Given the description of an element on the screen output the (x, y) to click on. 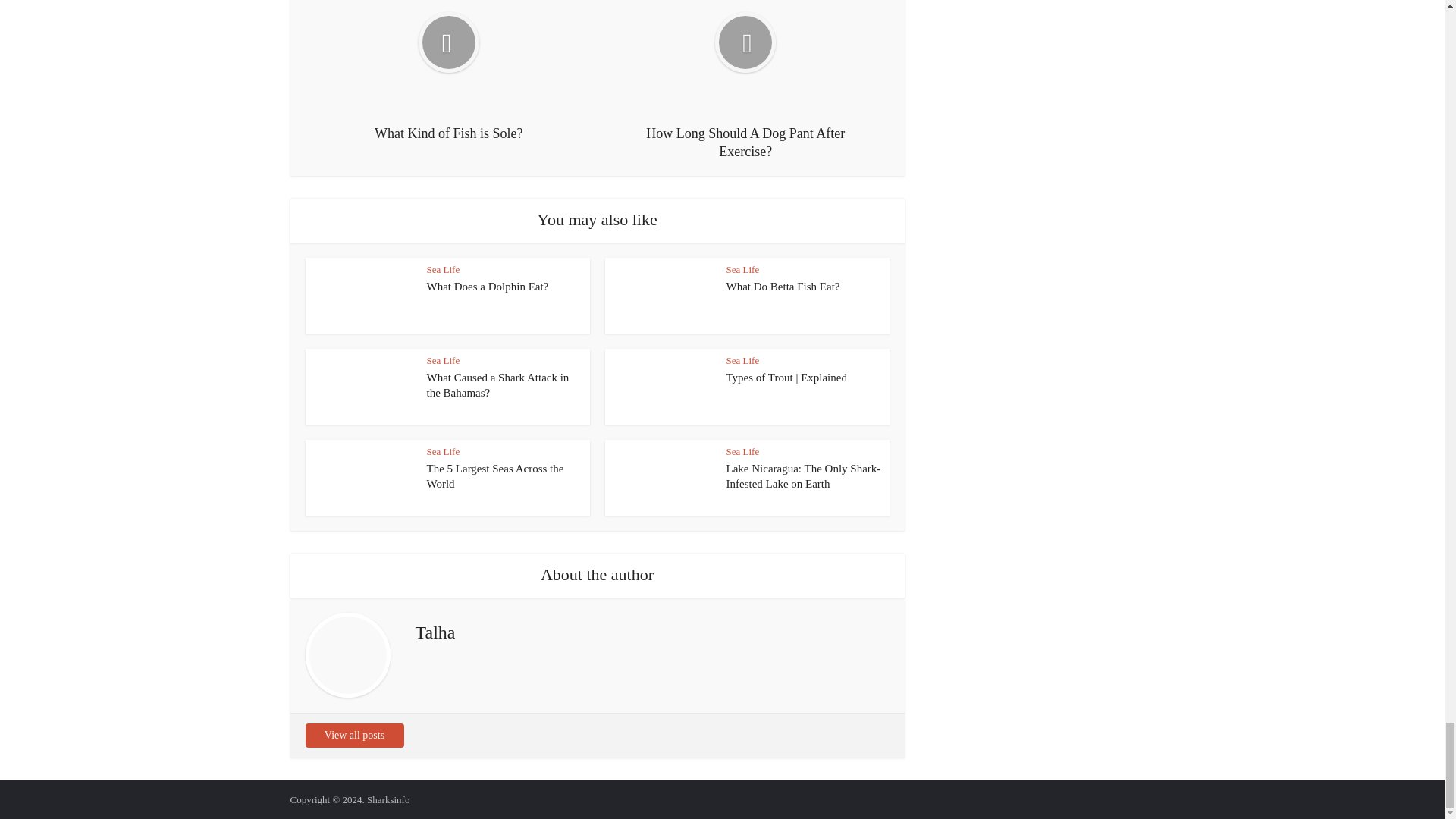
The 5 Largest Seas Across the World (494, 475)
View all posts (353, 735)
What Caused a Shark Attack in the Bahamas? (497, 384)
What Does a Dolphin Eat? (487, 286)
What Do Betta Fish Eat? (783, 286)
Sea Life (743, 451)
Lake Nicaragua: The Only Shark-Infested Lake on Earth (803, 475)
How Long Should A Dog Pant After Exercise? (745, 79)
What Kind of Fish is Sole? (449, 70)
Sea Life (443, 269)
